Given the description of an element on the screen output the (x, y) to click on. 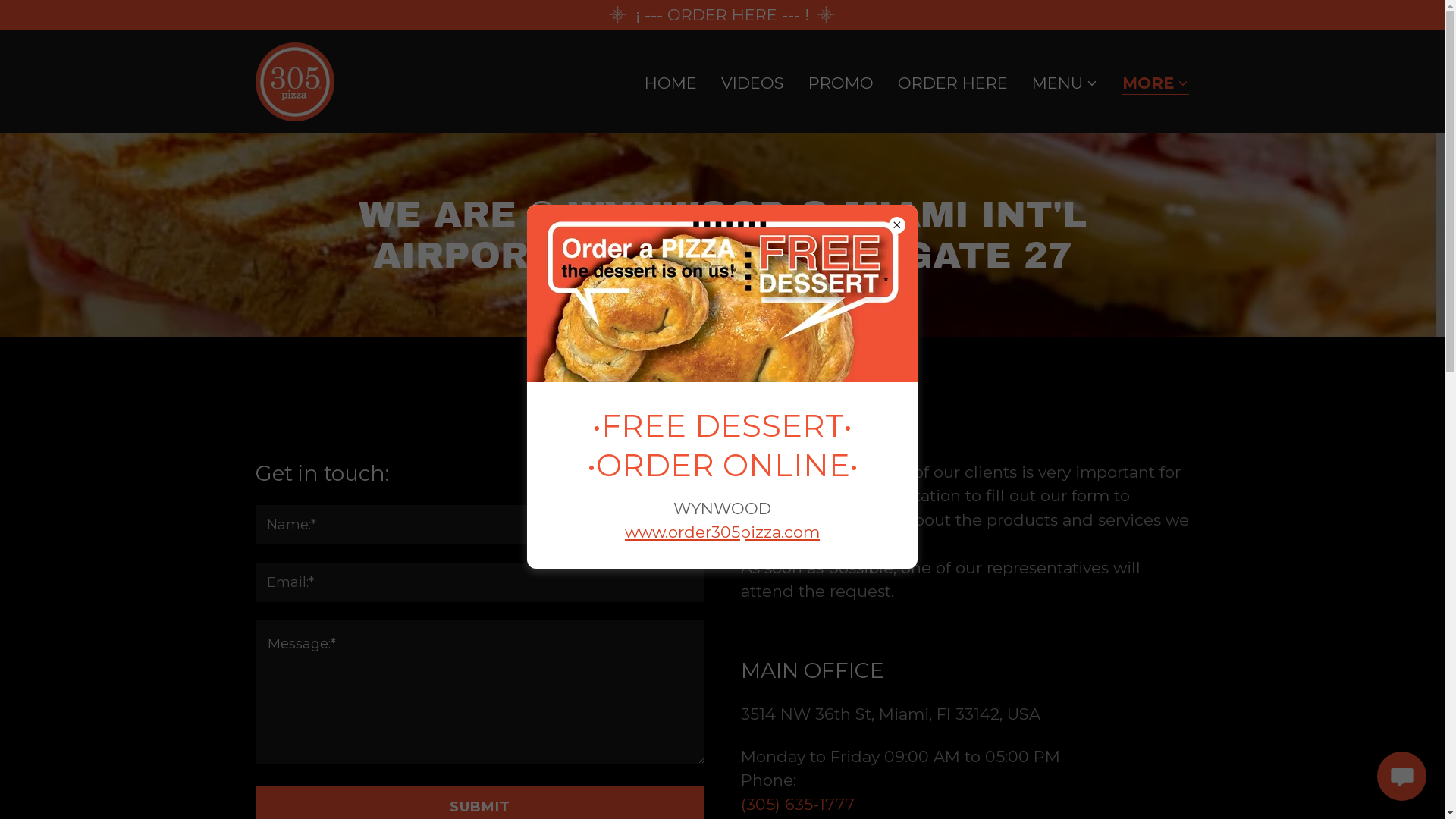
HOME Element type: text (670, 83)
(305) 635-1777 Element type: text (796, 803)
VIDEOS Element type: text (752, 83)
305 Pizza Element type: hover (293, 79)
MORE Element type: text (1155, 84)
www.order305pizza.com Element type: text (721, 531)
ORDER HERE Element type: text (952, 83)
PROMO Element type: text (840, 83)
MENU Element type: text (1065, 83)
